Given the description of an element on the screen output the (x, y) to click on. 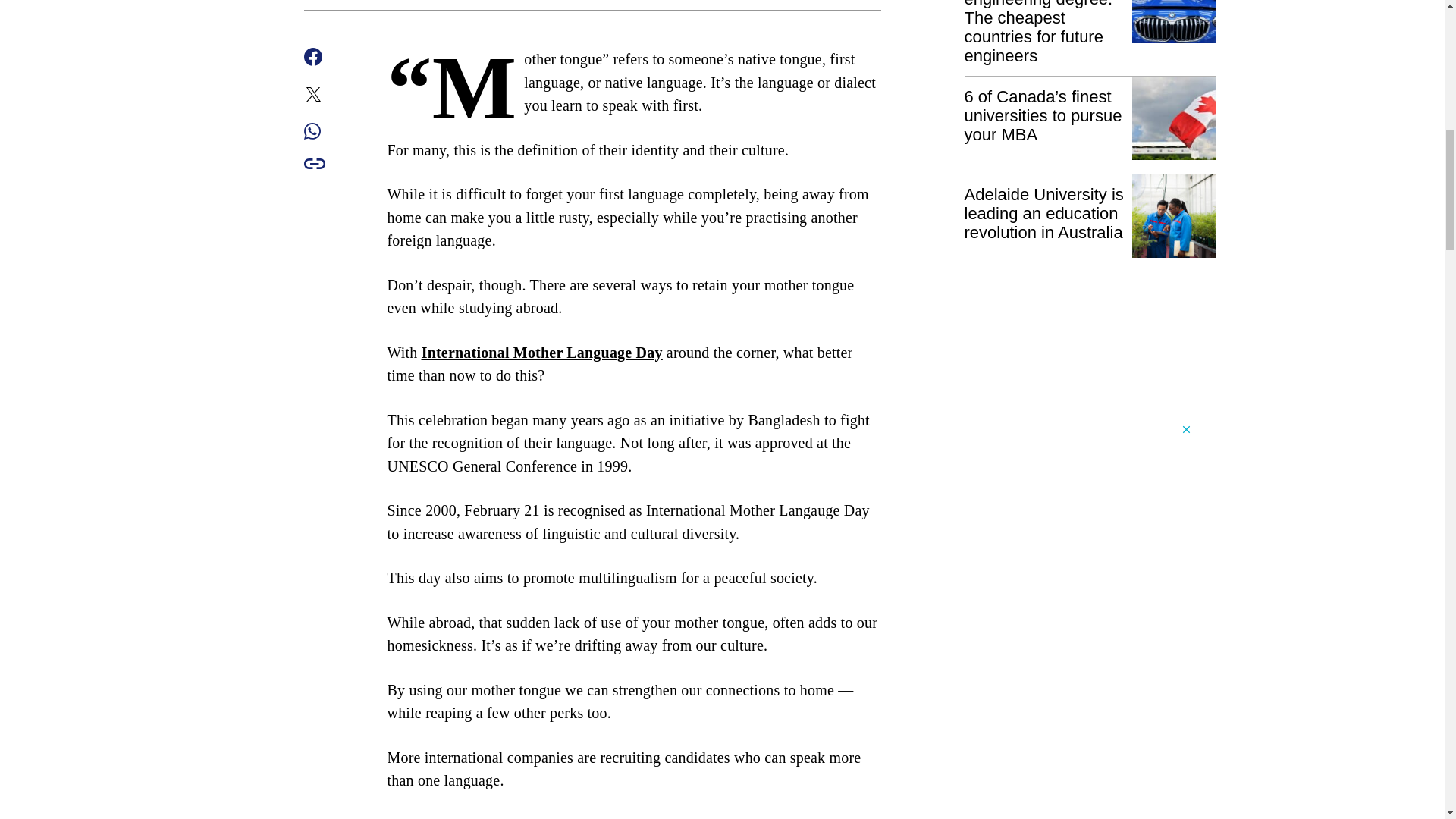
International Mother Language Day (542, 352)
